Given the description of an element on the screen output the (x, y) to click on. 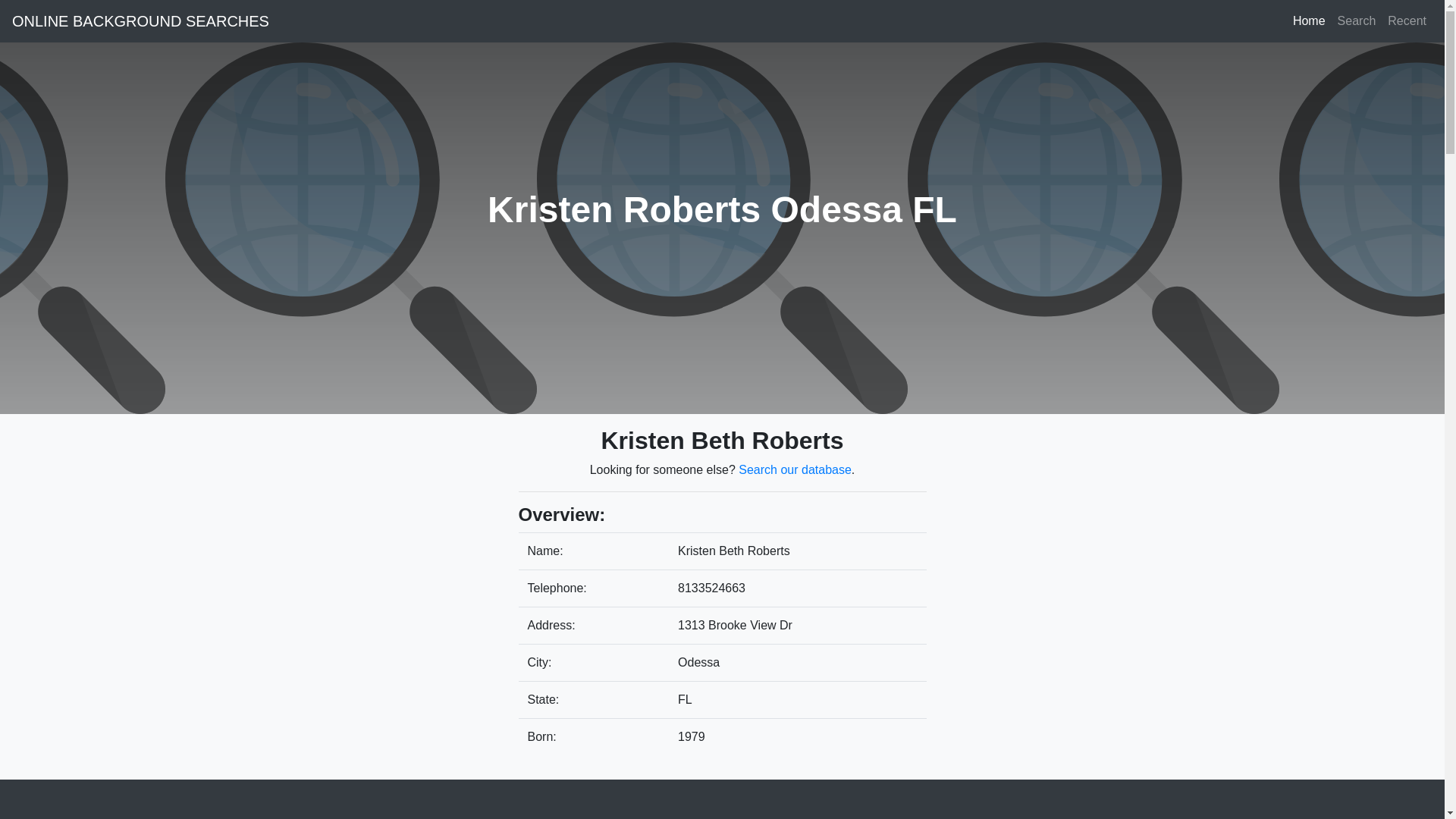
Search (1356, 20)
Home (1309, 20)
Search our database (794, 469)
ONLINE BACKGROUND SEARCHES (140, 20)
Recent (1406, 20)
